Given the description of an element on the screen output the (x, y) to click on. 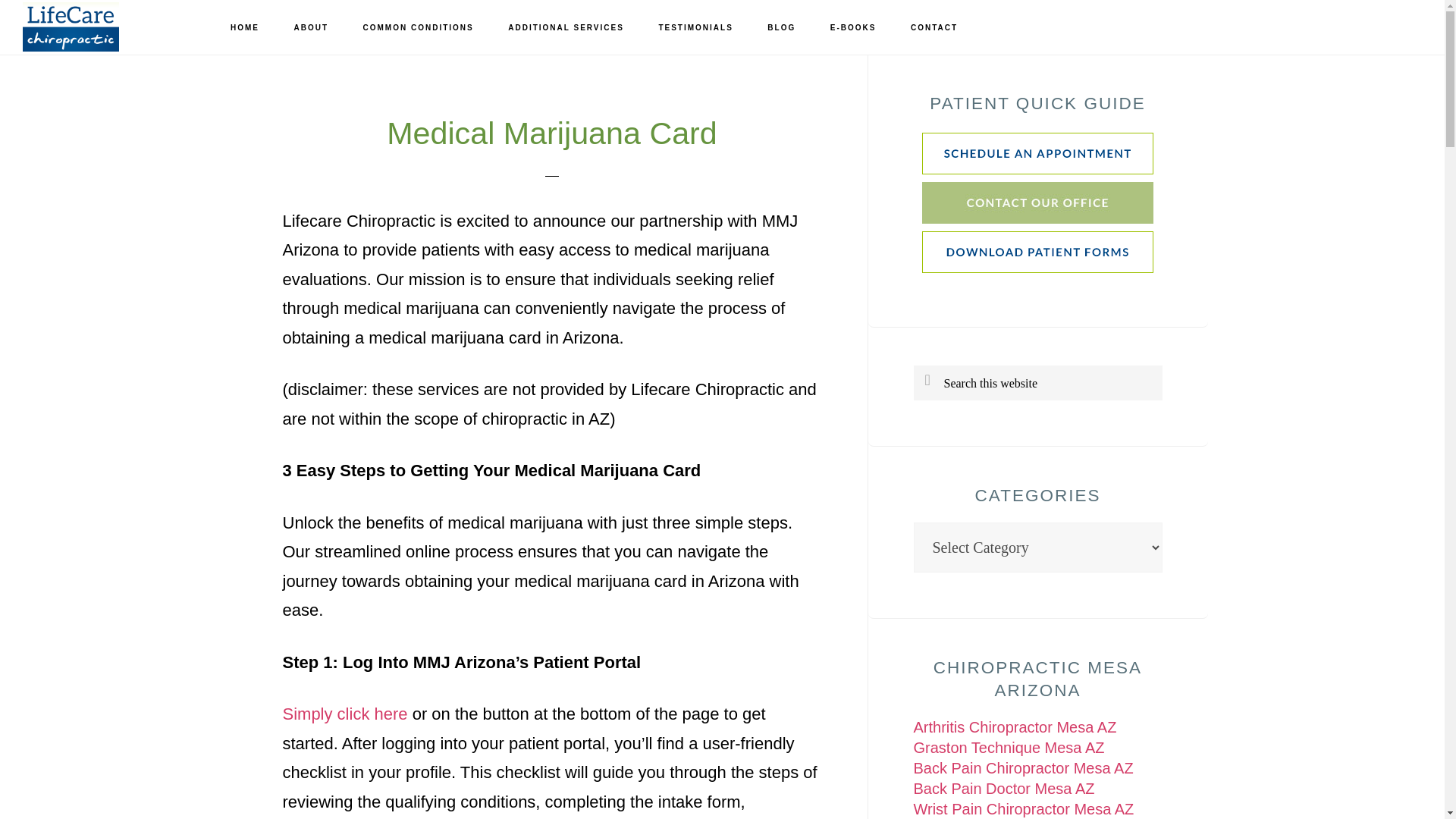
Back Pain Chiropractor Mesa AZ (1022, 768)
Arthritis Chiropractor Mesa AZ (1014, 727)
Wrist Pain Chiropractor Mesa AZ (1023, 808)
Contact Our Office (1037, 217)
ADDITIONAL SERVICES (566, 27)
E-BOOKS (853, 27)
ABOUT (310, 27)
Back Pain Doctor Mesa AZ (1003, 788)
Simply click here (344, 713)
LIFECARE CHIROPRACTIC (98, 26)
